Given the description of an element on the screen output the (x, y) to click on. 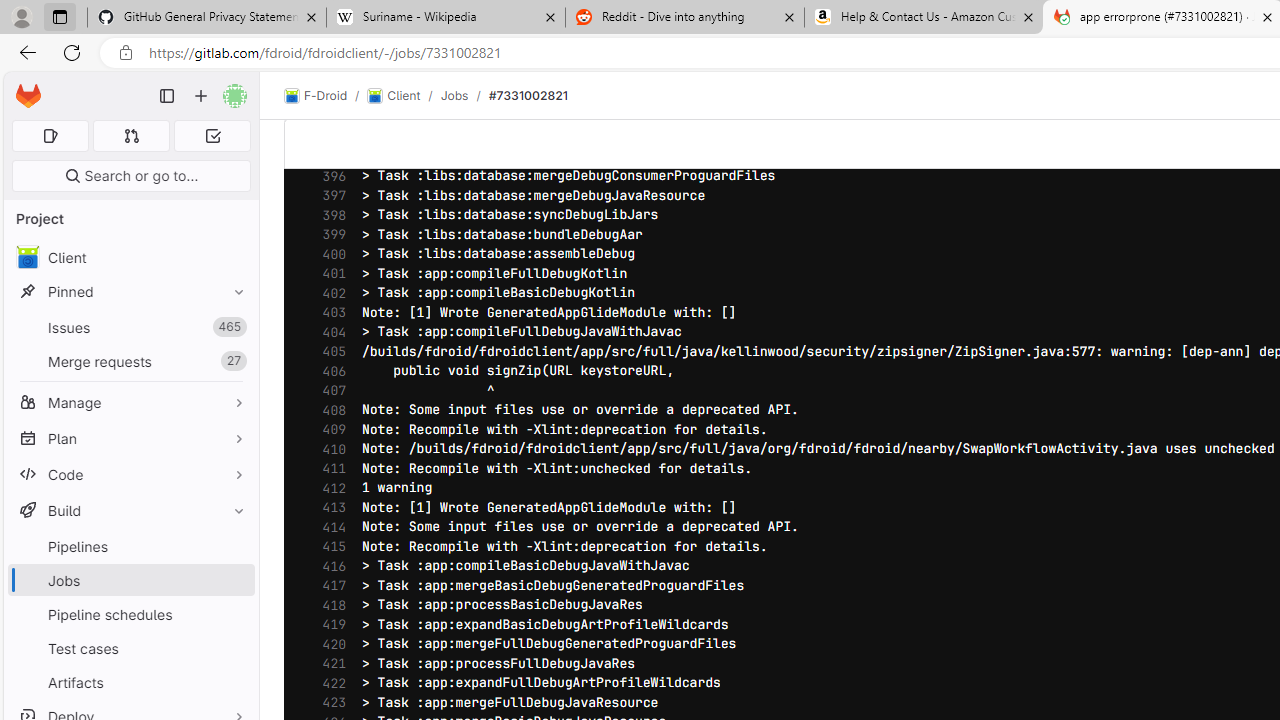
395 (329, 156)
